Given the description of an element on the screen output the (x, y) to click on. 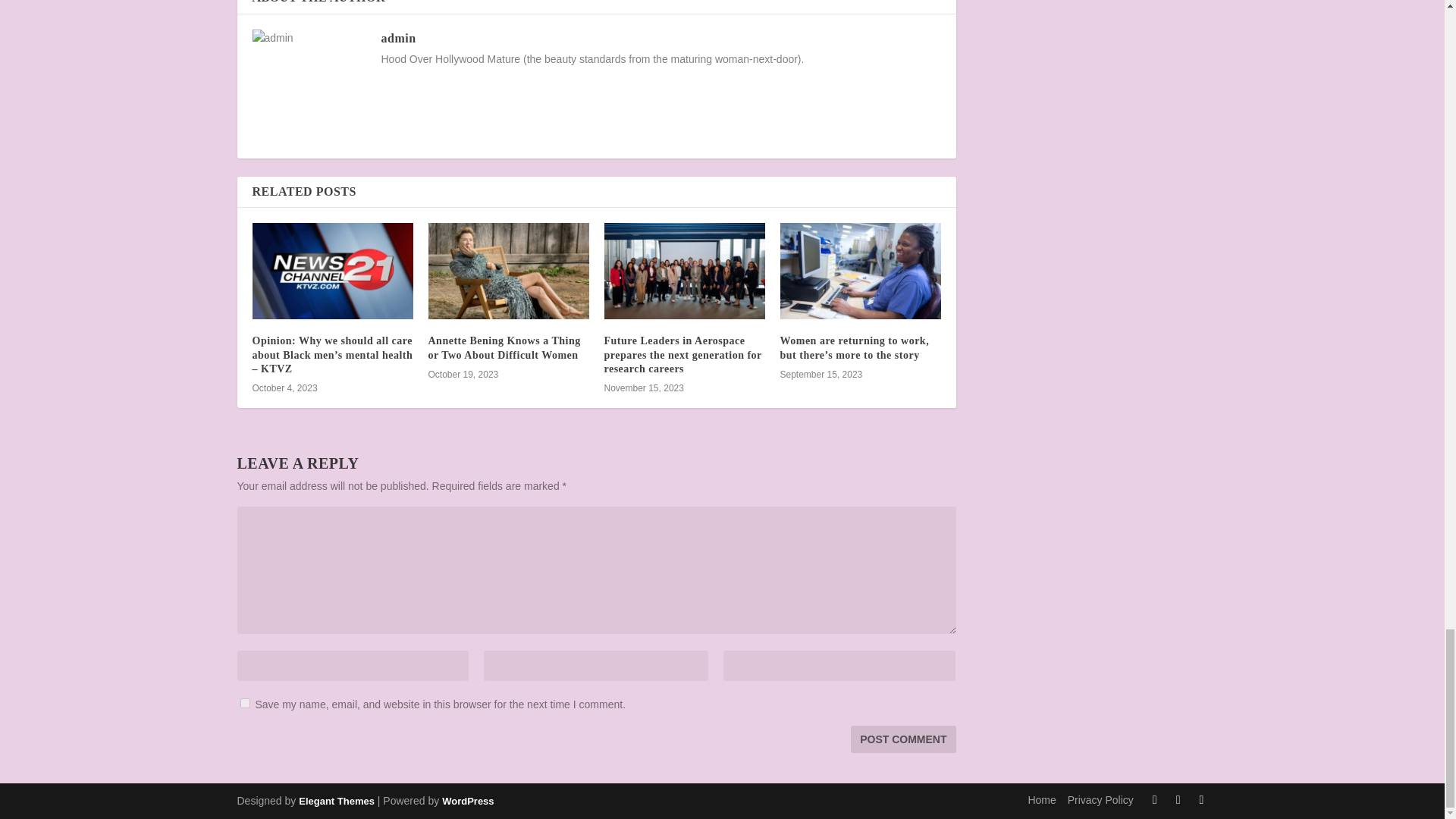
yes (244, 703)
Post Comment (902, 738)
admin (397, 37)
